Given the description of an element on the screen output the (x, y) to click on. 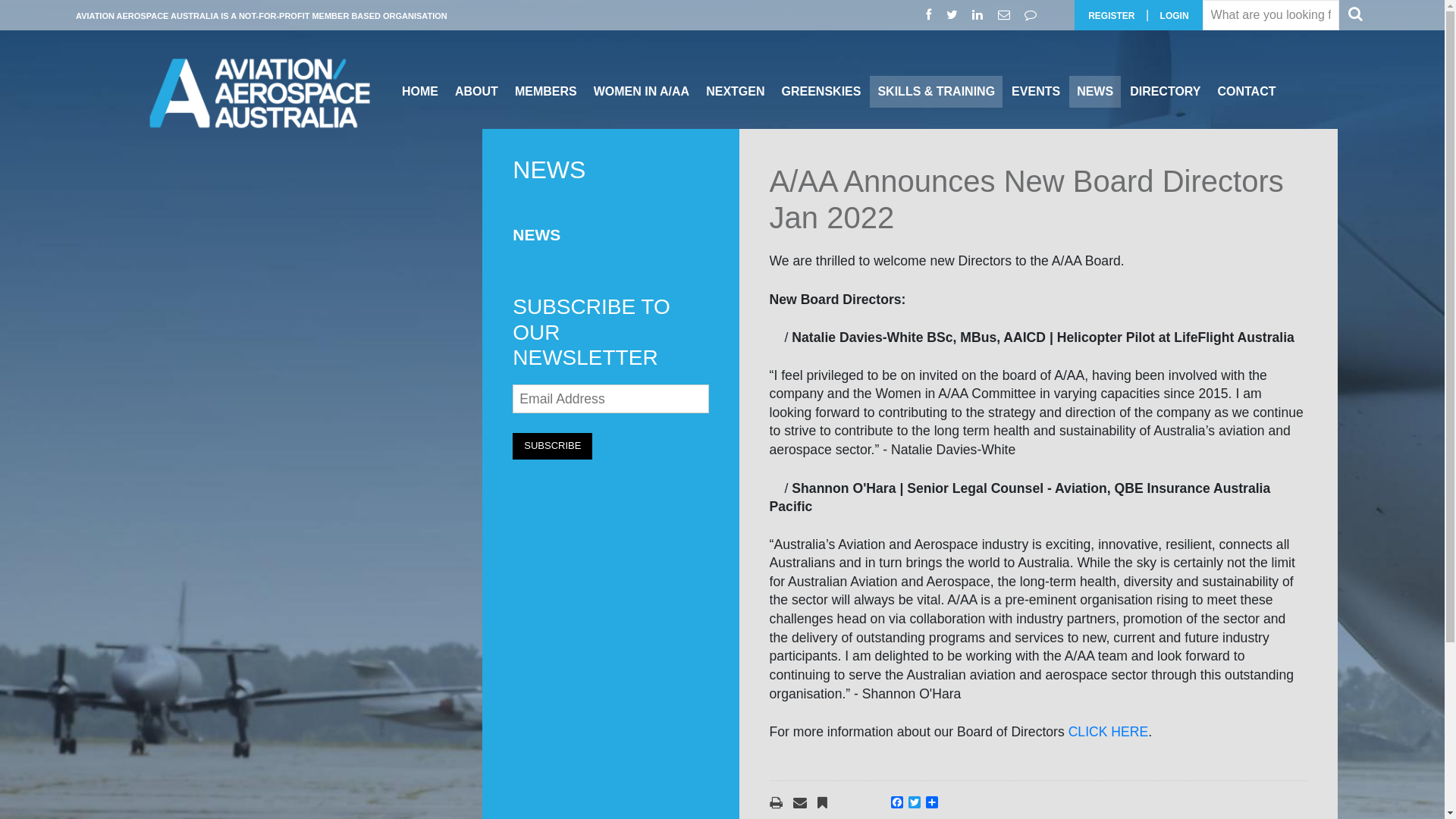
GREENSKIES Element type: text (821, 91)
Aviation Aerospace Australia Element type: hover (259, 93)
SKILLS & TRAINING Element type: text (935, 91)
LOGIN Element type: text (1174, 15)
NEWS Element type: text (1094, 91)
Subscribe to our newsletter Element type: hover (1005, 14)
CONTACT Element type: text (1246, 91)
CLICK HERE Element type: text (1108, 731)
What are you looking for? Element type: text (1270, 15)
LinkedIn Element type: hover (979, 14)
Twitter Element type: hover (953, 14)
SUBSCRIBE Element type: text (552, 446)
NEWS Element type: text (536, 234)
HOME Element type: text (419, 91)
Share Element type: text (934, 802)
WOMEN IN A/AA Element type: text (641, 91)
Facebook Element type: text (899, 802)
bookmark this page Element type: hover (827, 803)
ABOUT Element type: text (476, 91)
Twitter Element type: text (916, 802)
DIRECTORY Element type: text (1165, 91)
Facebook Element type: hover (930, 14)
EVENTS Element type: text (1035, 91)
MEMBERS Element type: text (545, 91)
Contact Us Element type: hover (1032, 14)
NEXTGEN Element type: text (734, 91)
REGISTER Element type: text (1111, 15)
